Given the description of an element on the screen output the (x, y) to click on. 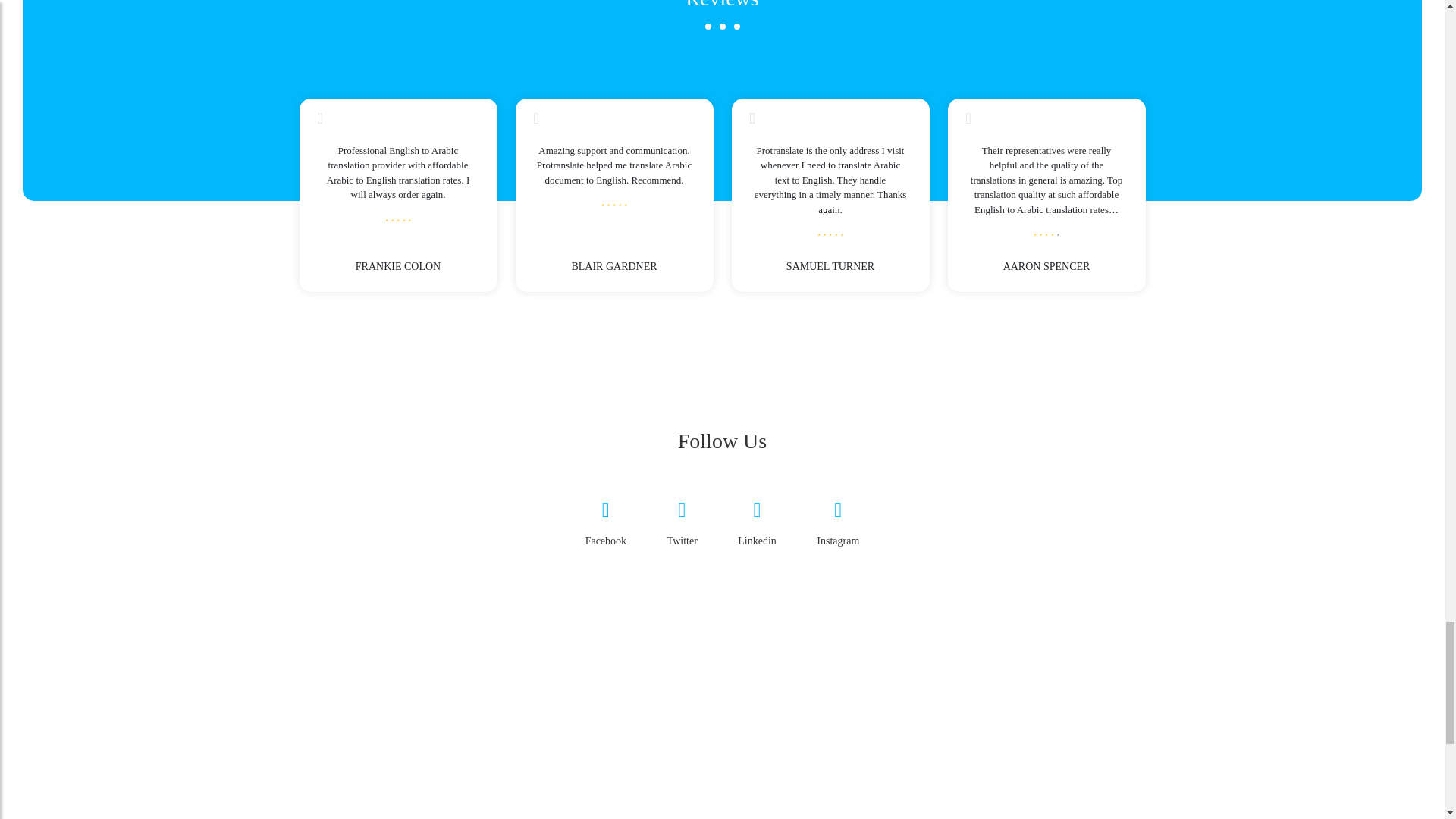
Linkedin (757, 527)
Facebook (605, 527)
Instagram (837, 527)
Links (722, 700)
